Given the description of an element on the screen output the (x, y) to click on. 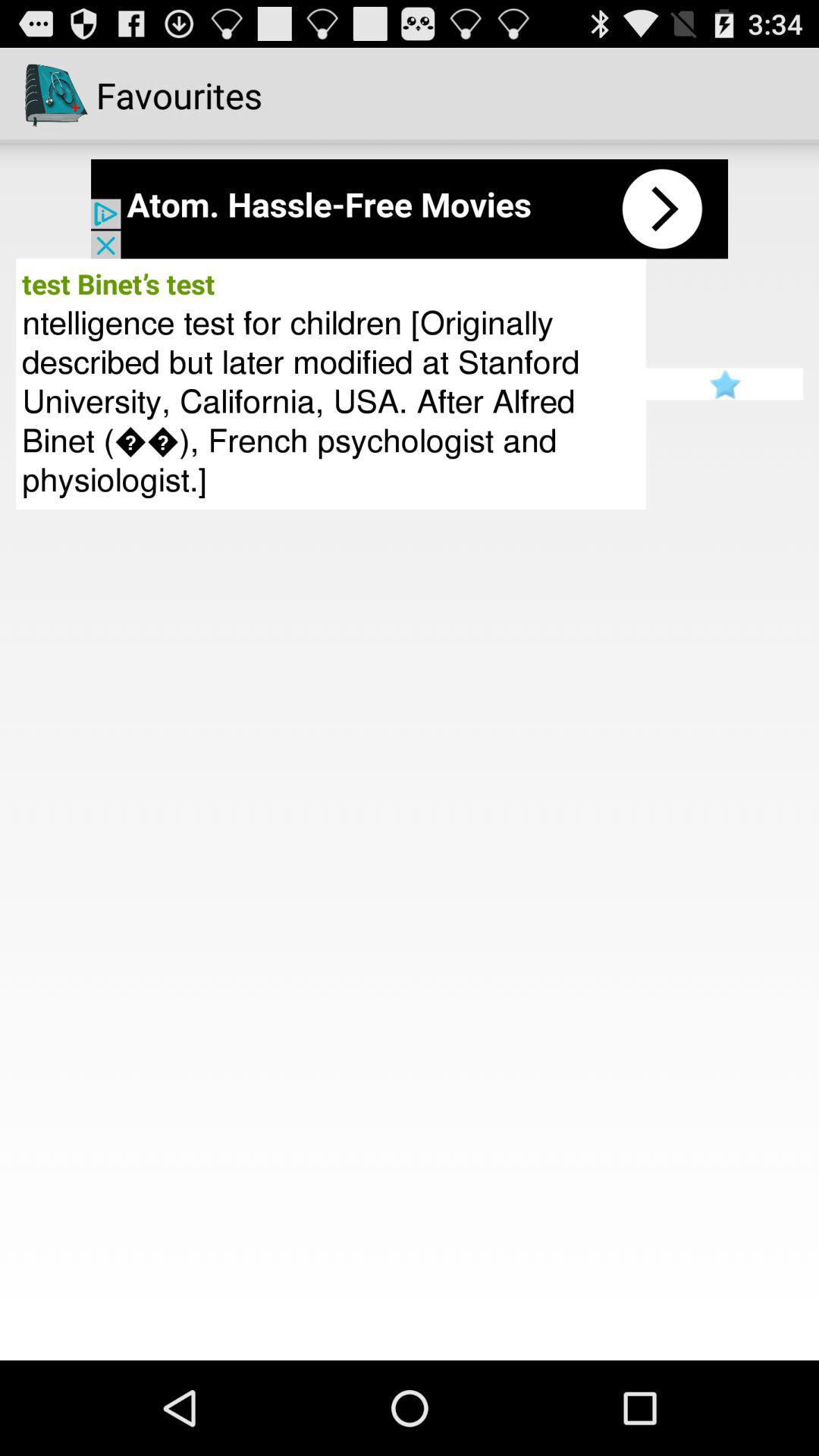
open advertisement (409, 208)
